Given the description of an element on the screen output the (x, y) to click on. 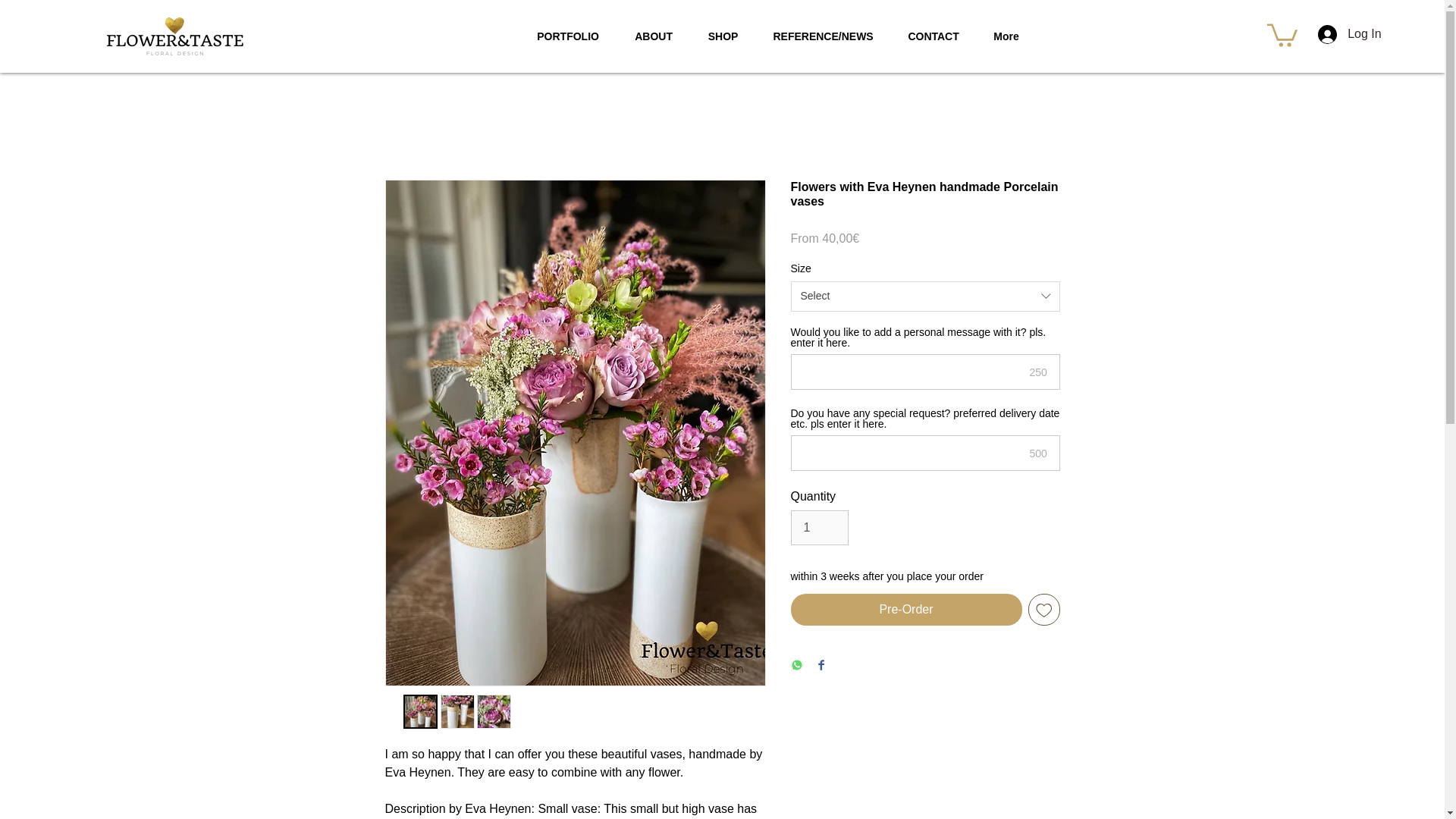
ABOUT (653, 36)
Log In (1337, 33)
1 (818, 527)
Pre-Order (906, 609)
PORTFOLIO (568, 36)
Select (924, 296)
CONTACT (933, 36)
SHOP (722, 36)
